Given the description of an element on the screen output the (x, y) to click on. 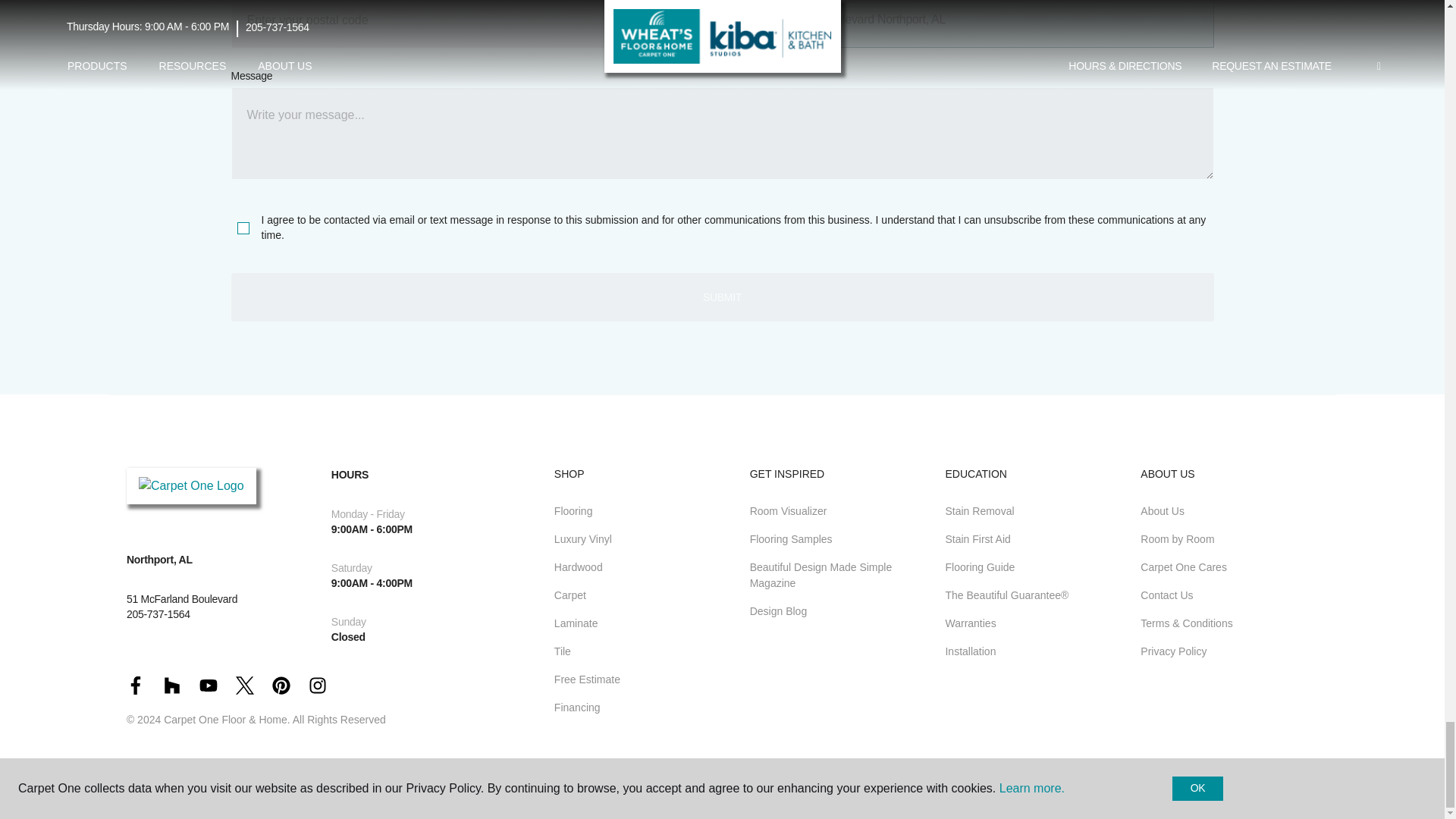
MyMessage (721, 132)
PostalCode (471, 24)
